Given the description of an element on the screen output the (x, y) to click on. 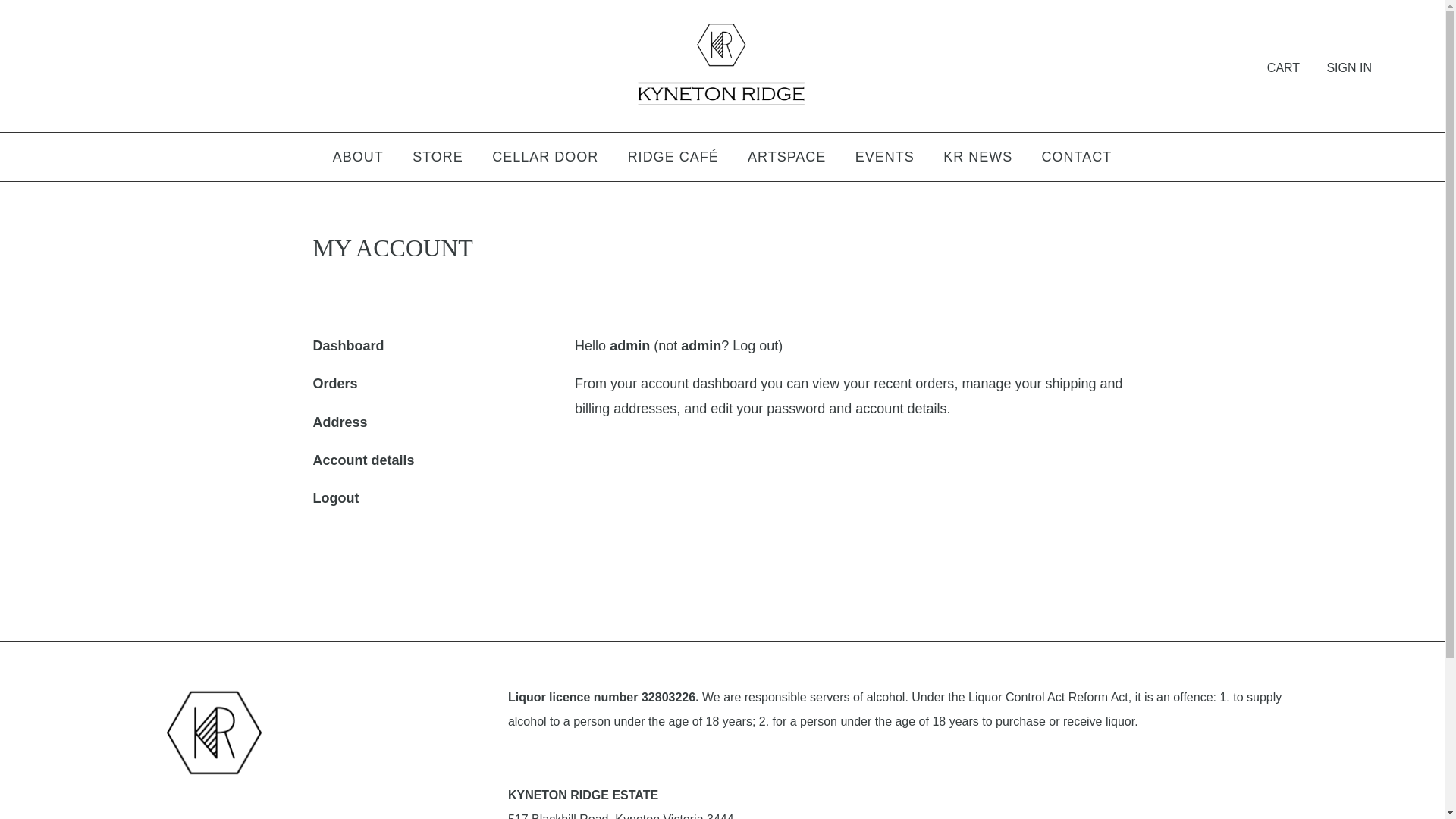
ABOUT Element type: text (357, 159)
CONTACT Element type: text (1076, 159)
Orders Element type: text (334, 383)
STORE Element type: text (437, 159)
CART Element type: text (1283, 67)
Logout Element type: text (335, 497)
shipping and billing addresses Element type: text (848, 395)
EVENTS Element type: text (884, 159)
Kyneton Ridge logo Element type: hover (213, 732)
ARTSPACE Element type: text (786, 159)
recent orders Element type: text (913, 383)
Log out Element type: text (755, 345)
Dashboard Element type: text (347, 345)
Kyneton-Ridge-Estate-Winery-email2 Element type: hover (721, 75)
Address Element type: text (339, 421)
edit your password and account details Element type: text (828, 408)
CELLAR DOOR Element type: text (545, 159)
Account details Element type: text (363, 459)
KR NEWS Element type: text (977, 159)
SIGN IN Element type: text (1348, 67)
